Given the description of an element on the screen output the (x, y) to click on. 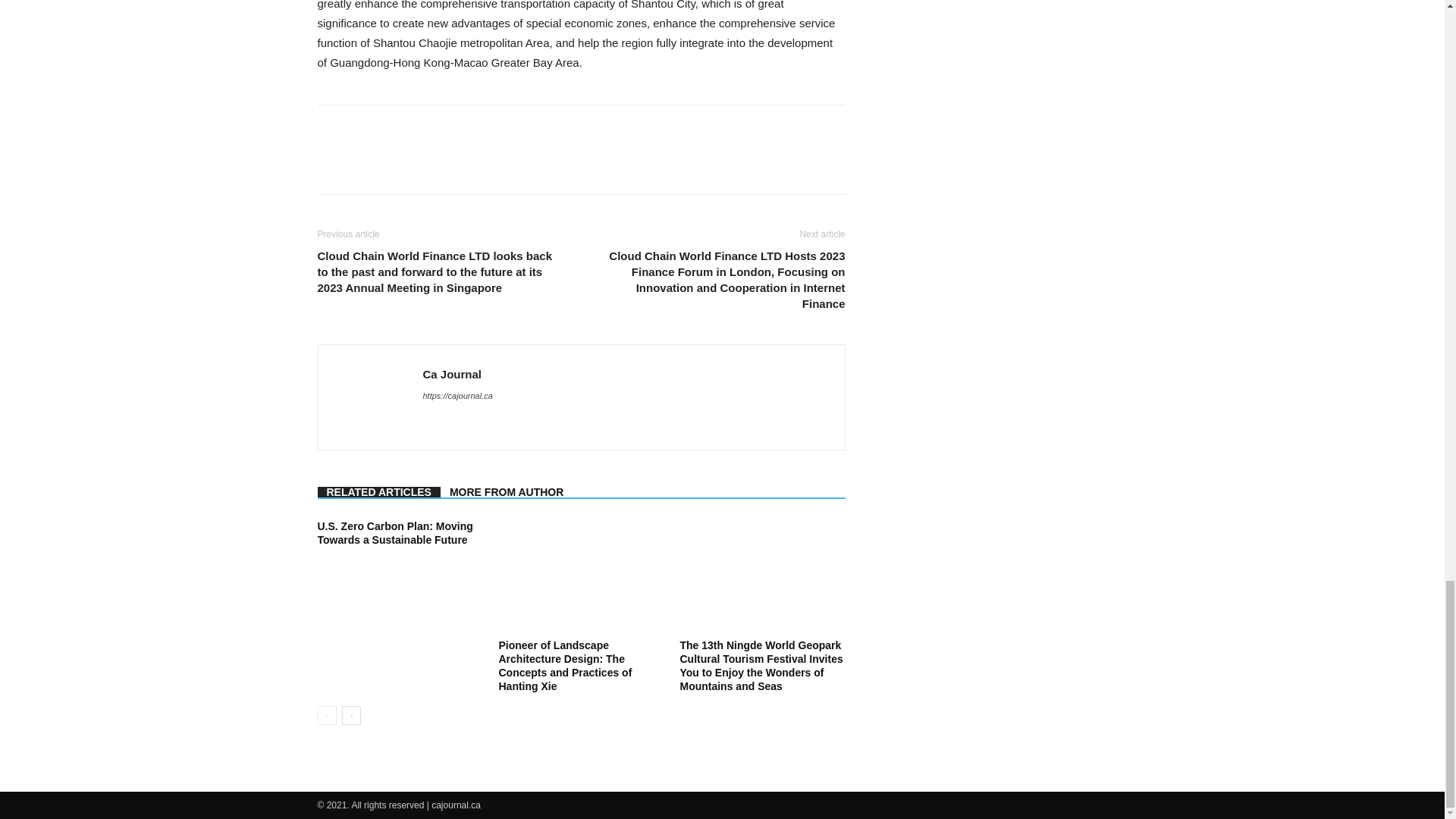
MORE FROM AUTHOR (506, 491)
U.S. Zero Carbon Plan: Moving Towards a Sustainable Future (394, 533)
Ca Journal (452, 373)
RELATED ARTICLES (378, 491)
bottomFacebookLike (430, 129)
